Given the description of an element on the screen output the (x, y) to click on. 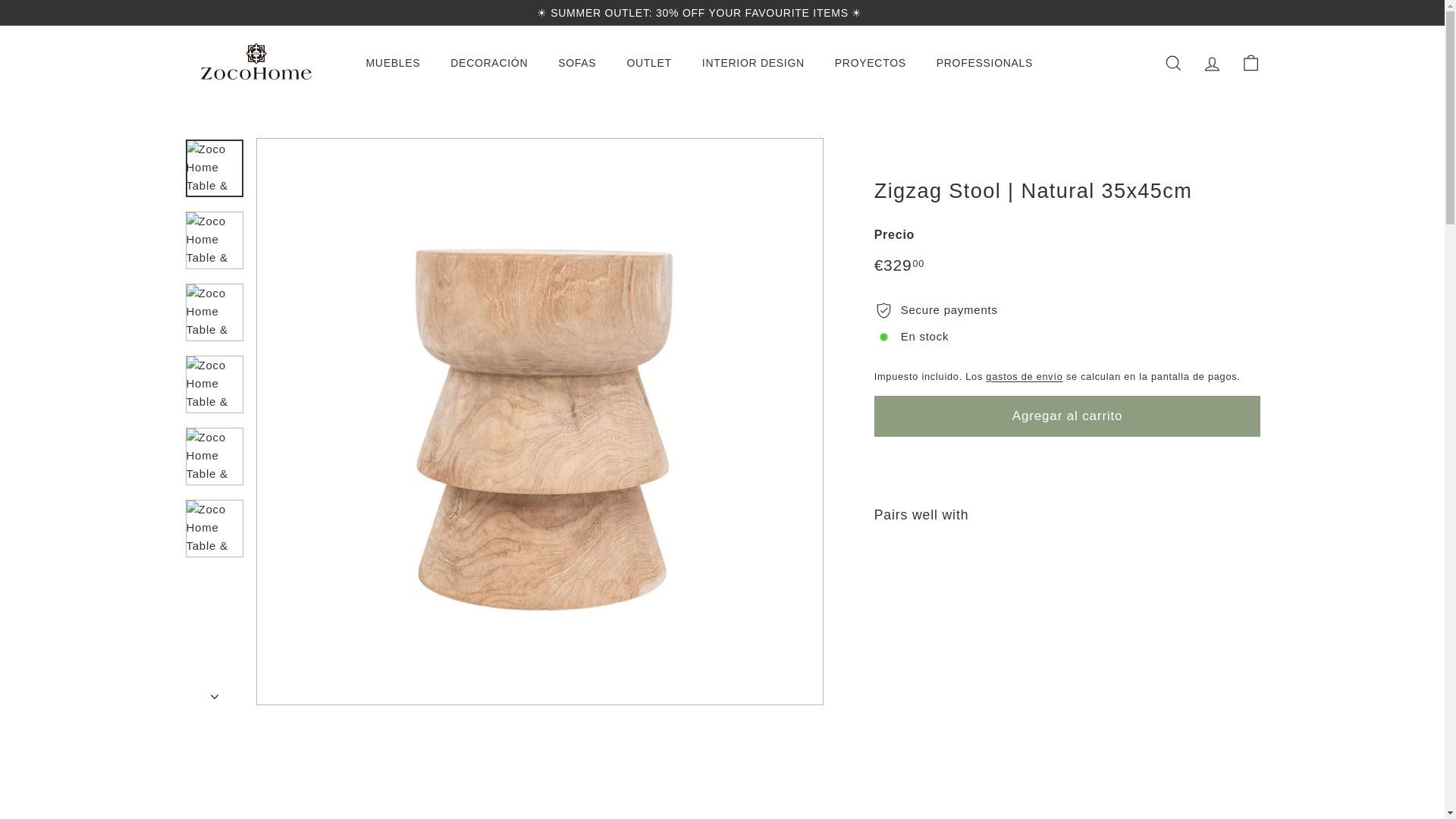
Pinterest (1248, 12)
Zoco Home  en TikTok (1256, 12)
icon-chevron (214, 696)
Zoco Home  en YouTube (1240, 12)
YouTube (1240, 12)
Facebook (1233, 12)
TikTok (1256, 12)
Instagram (1226, 12)
Zoco Home  en Instagram (1226, 12)
